Given the description of an element on the screen output the (x, y) to click on. 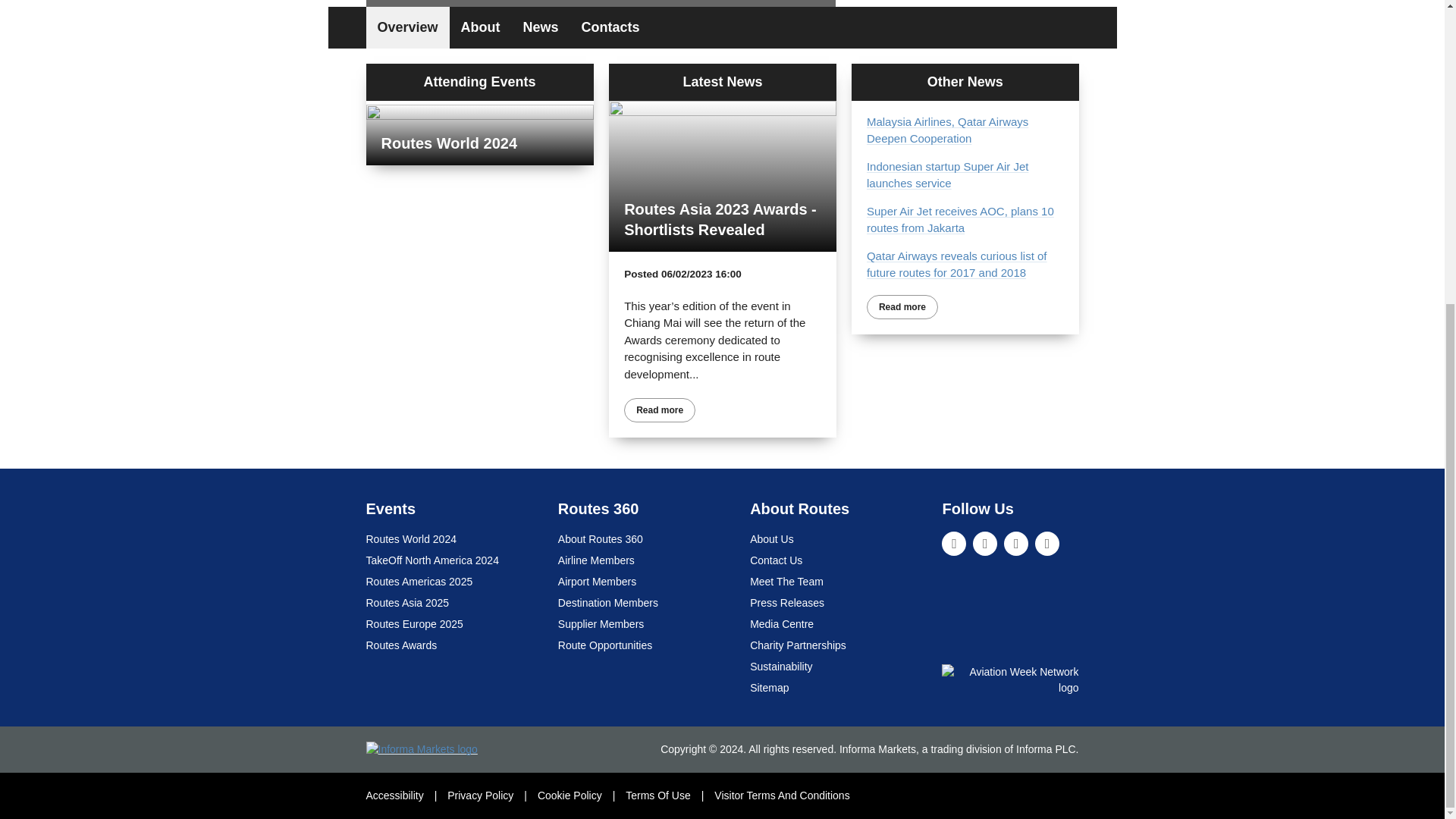
Facebook (1015, 543)
LinkedIn (954, 543)
YouTube (1047, 543)
